Given the description of an element on the screen output the (x, y) to click on. 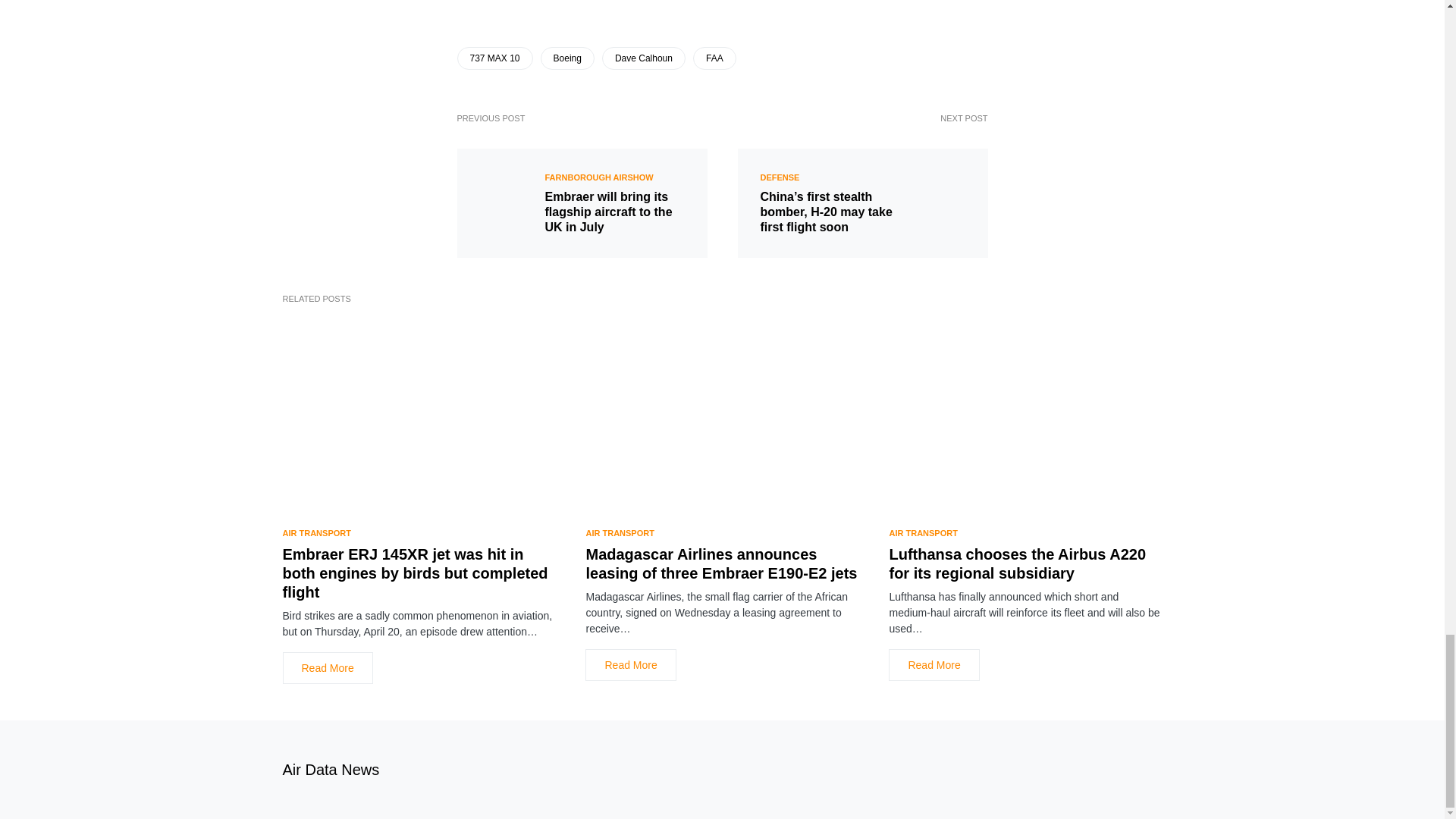
FARNBOROUGH AIRSHOW (598, 176)
Dave Calhoun (643, 57)
737 MAX 10 (494, 57)
Embraer will bring its flagship aircraft to the UK in July (614, 212)
Boeing (567, 57)
FAA (714, 57)
